Given the description of an element on the screen output the (x, y) to click on. 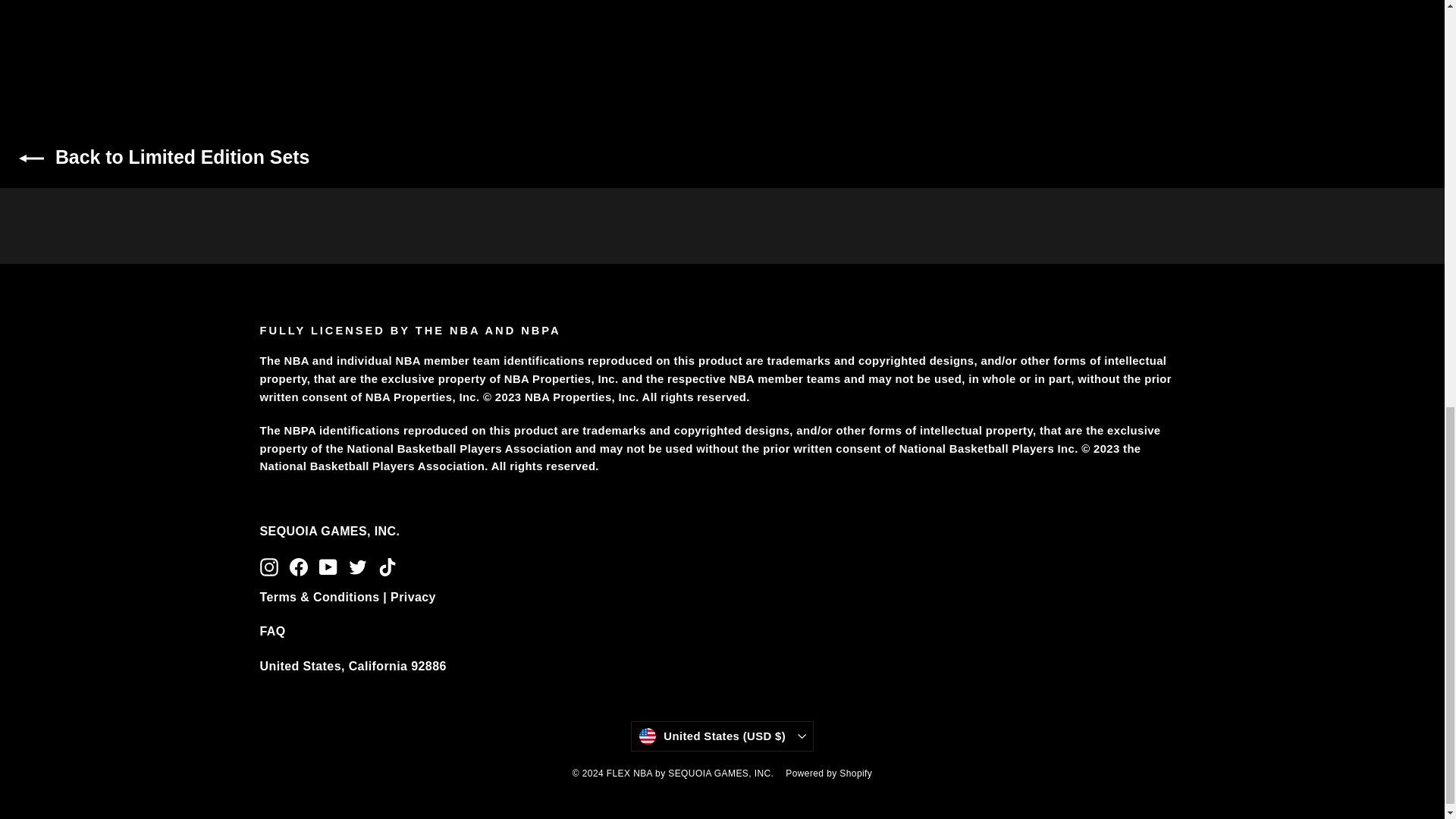
FLEX NBA by SEQUOIA GAMES, INC. on Facebook (298, 566)
FAQ (272, 631)
TERMS (347, 596)
FLEX NBA by SEQUOIA GAMES, INC. on YouTube (327, 566)
FLEX NBA by SEQUOIA GAMES, INC. on TikTok (386, 566)
FLEX NBA by SEQUOIA GAMES, INC. on Twitter (357, 566)
FLEX NBA by SEQUOIA GAMES, INC. on Instagram (268, 566)
